Given the description of an element on the screen output the (x, y) to click on. 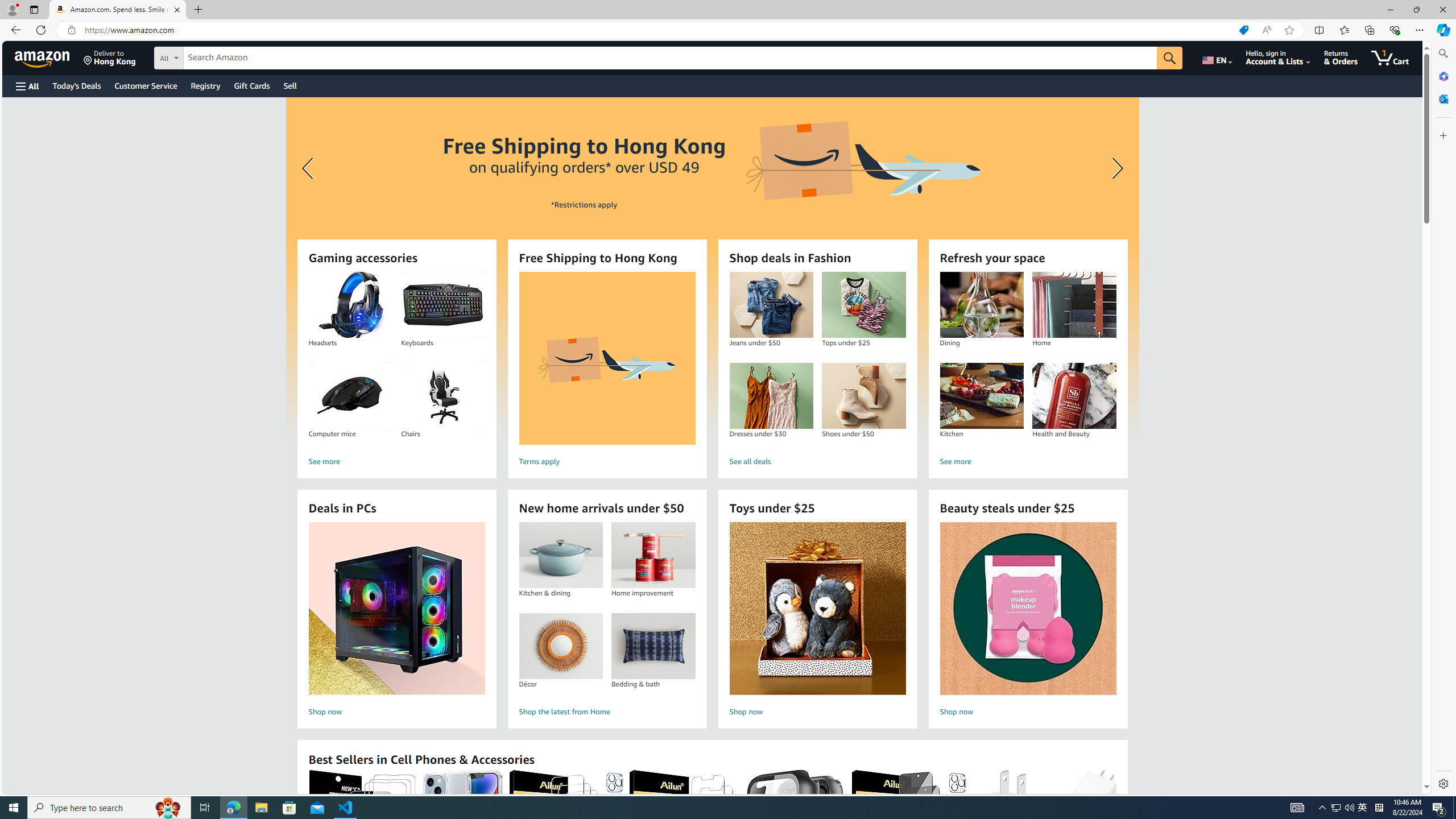
Toys under $25 (818, 608)
